Given the description of an element on the screen output the (x, y) to click on. 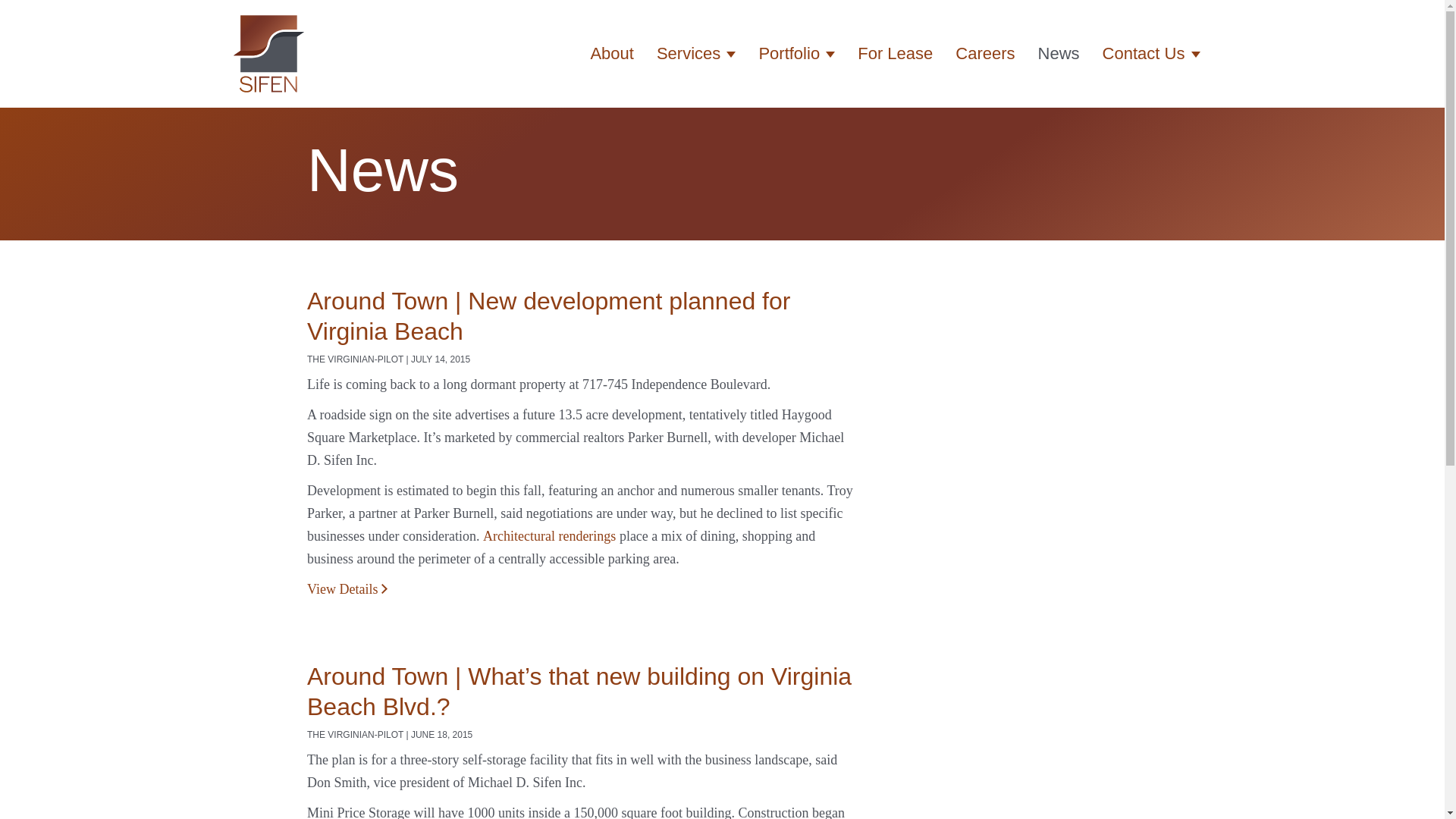
Services (695, 53)
News (1058, 53)
Careers (984, 53)
Portfolio (795, 53)
Services (695, 53)
Careers (984, 53)
Portfolio (795, 53)
For Lease (894, 53)
Contact Us (1150, 53)
For Lease (894, 53)
